Given the description of an element on the screen output the (x, y) to click on. 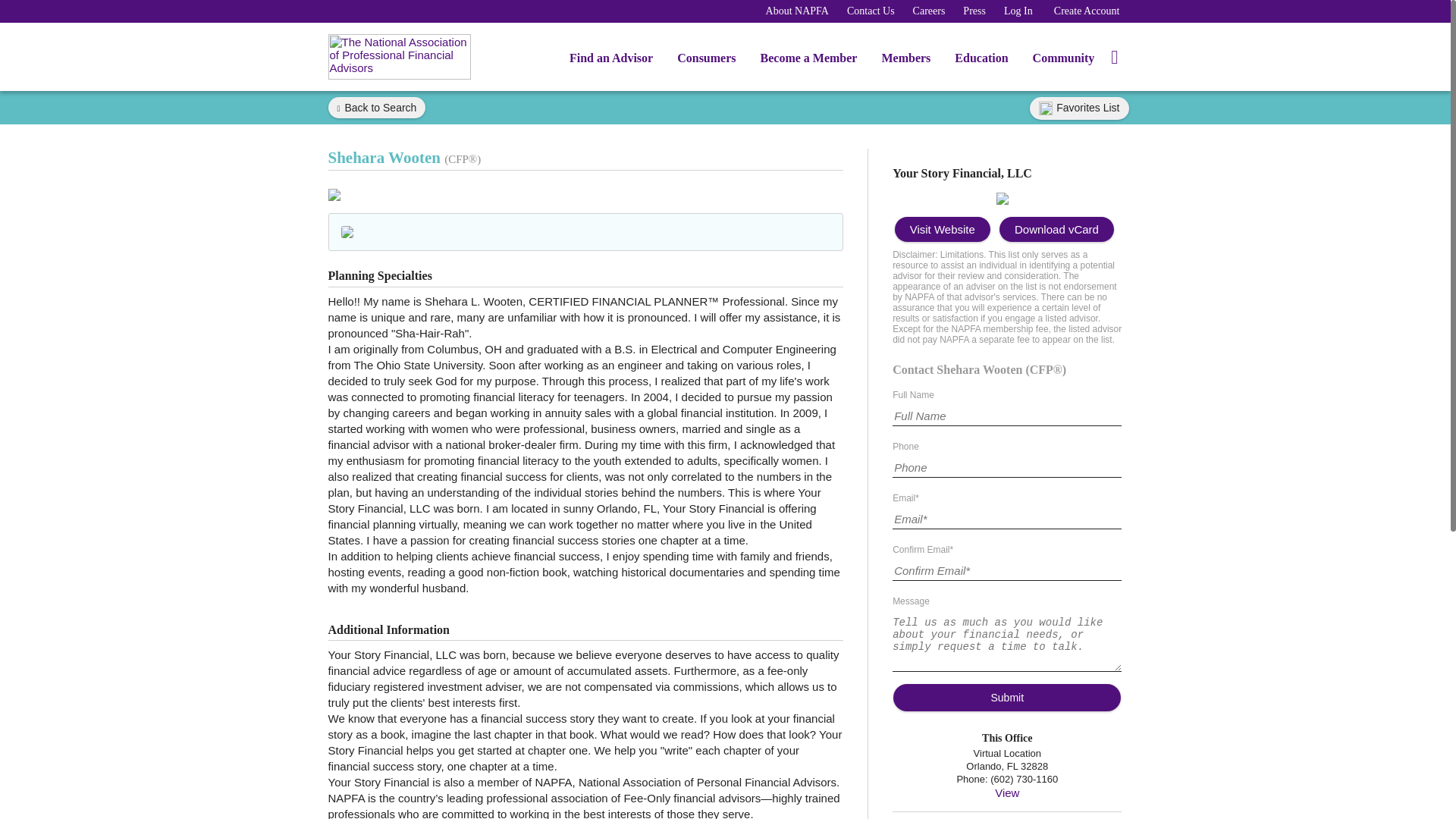
Find an Advisor (611, 60)
About NAPFA (796, 10)
Consumers (706, 60)
Education (981, 60)
Press (973, 10)
Become a Member (808, 60)
Careers (928, 10)
Members (905, 60)
Create Account (1086, 10)
Log In (1018, 10)
